Given the description of an element on the screen output the (x, y) to click on. 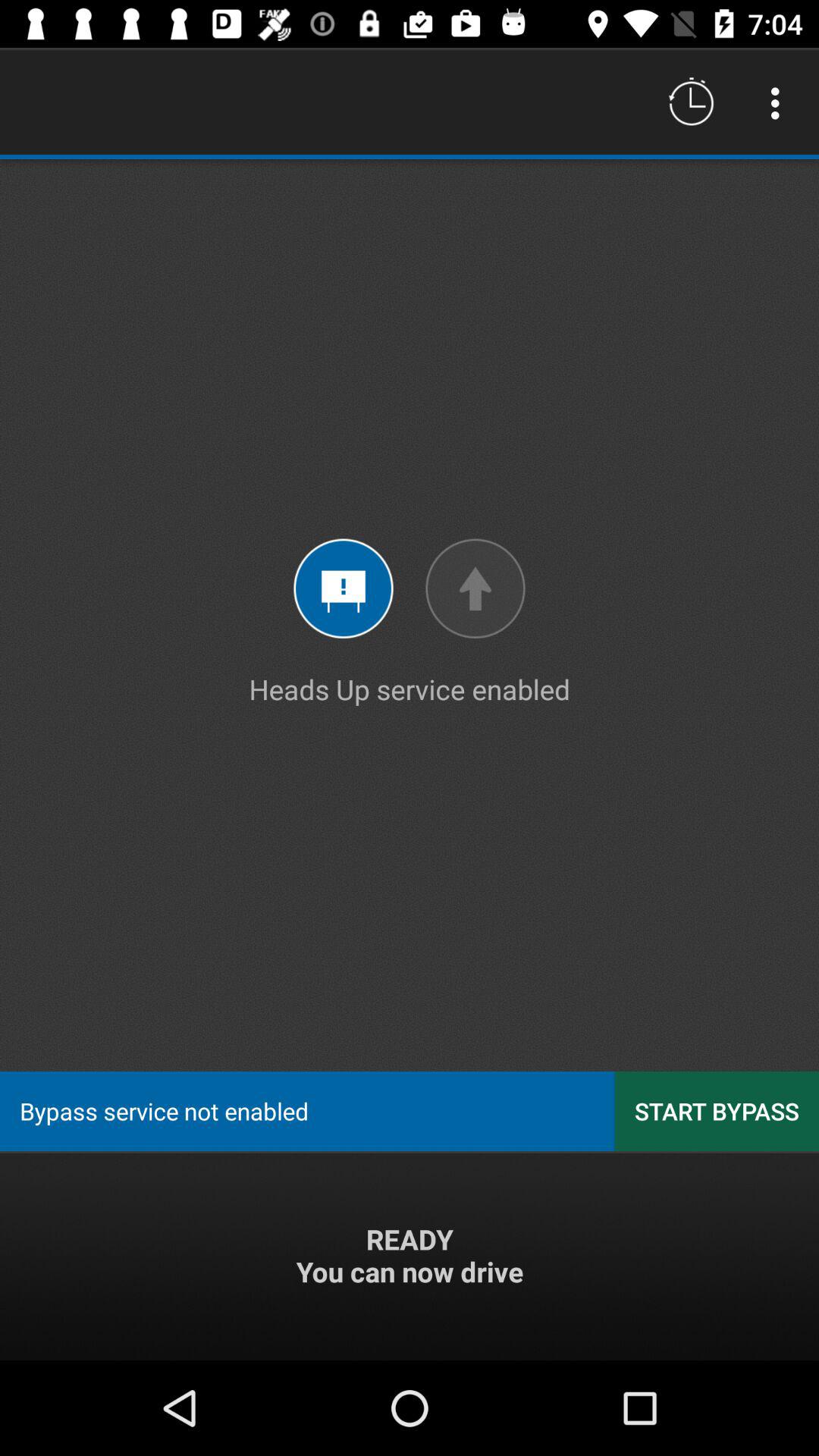
tap the item above the ready you can item (716, 1111)
